Given the description of an element on the screen output the (x, y) to click on. 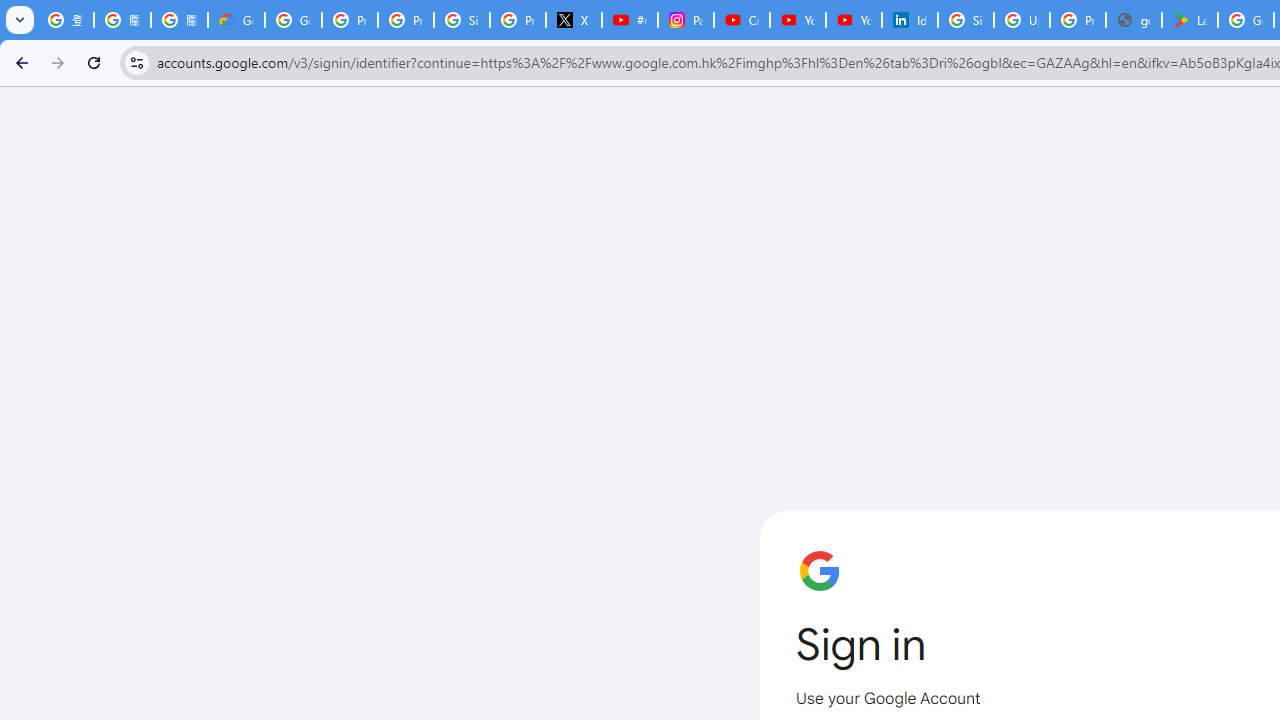
YouTube Culture & Trends - YouTube Top 10, 2021 (853, 20)
Sign in - Google Accounts (966, 20)
#nbabasketballhighlights - YouTube (629, 20)
Sign in - Google Accounts (461, 20)
Privacy Help Center - Policies Help (405, 20)
